Given the description of an element on the screen output the (x, y) to click on. 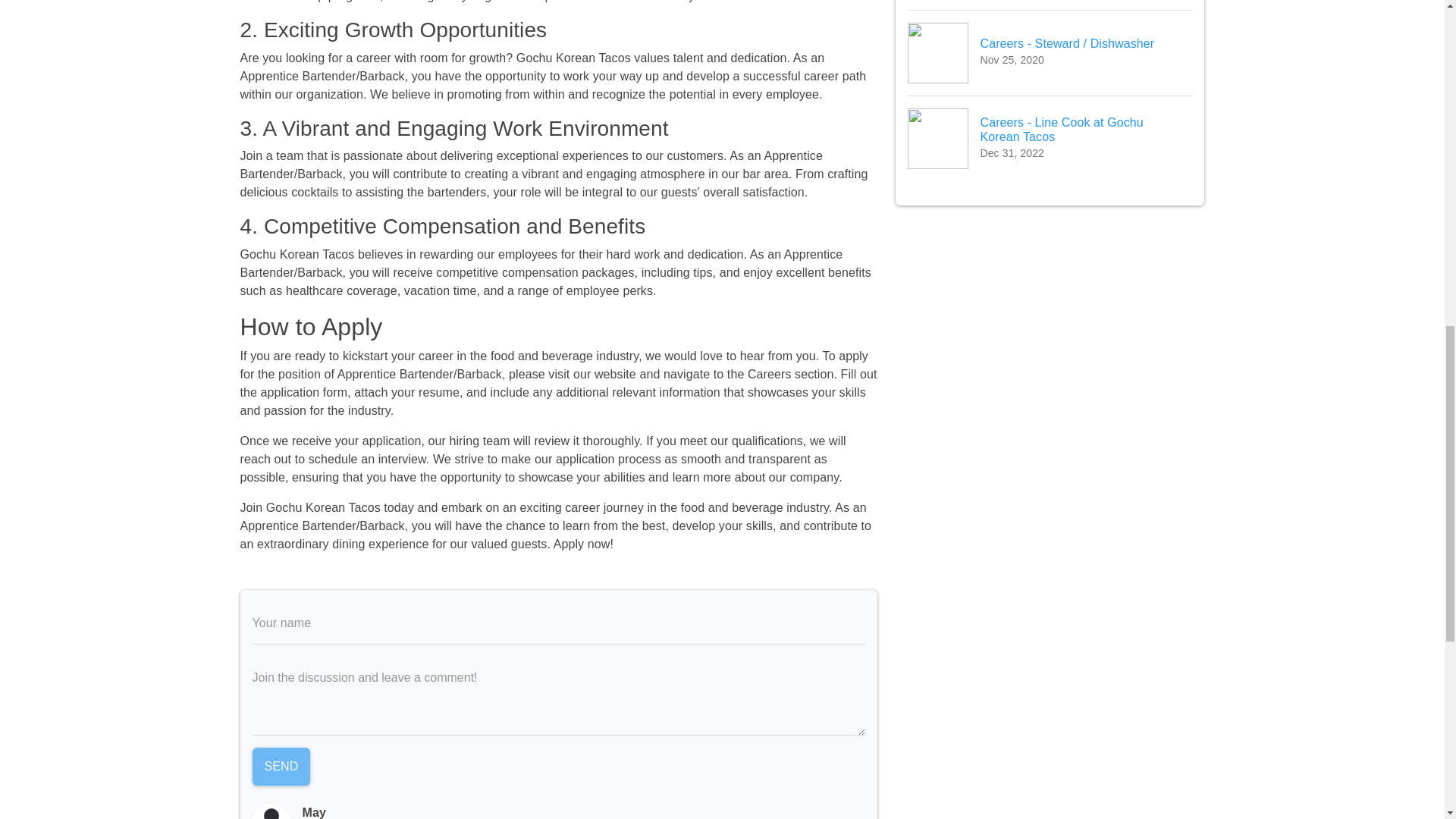
Send (280, 766)
Send (280, 766)
